Given the description of an element on the screen output the (x, y) to click on. 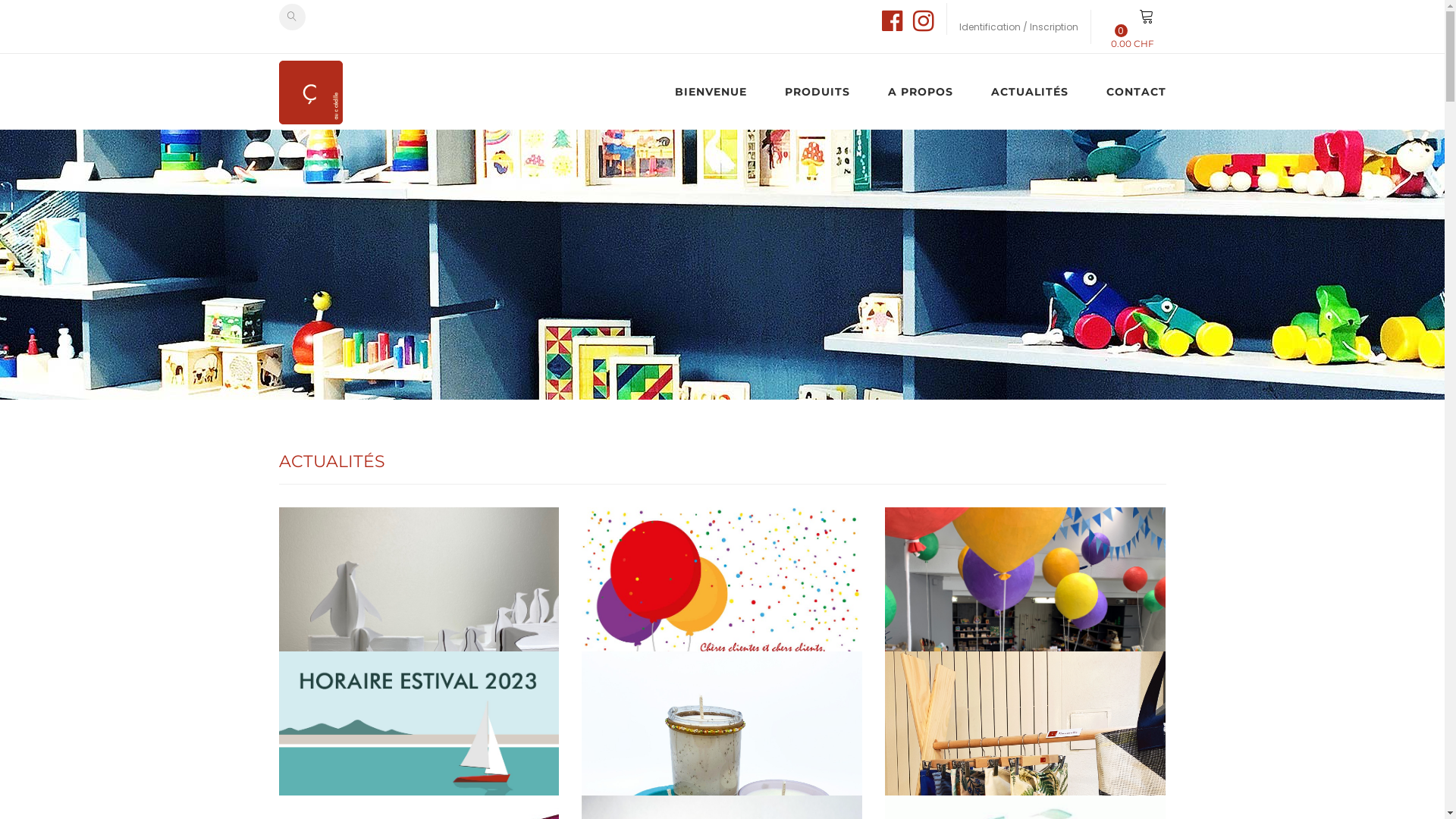
Search Element type: hover (292, 17)
CONTACT Element type: text (1126, 91)
PRODUITS Element type: text (817, 91)
Identification / Inscription Element type: text (1017, 26)
BIENVENUE Element type: text (719, 91)
  Element type: text (893, 25)
A PROPOS Element type: text (920, 91)
